Given the description of an element on the screen output the (x, y) to click on. 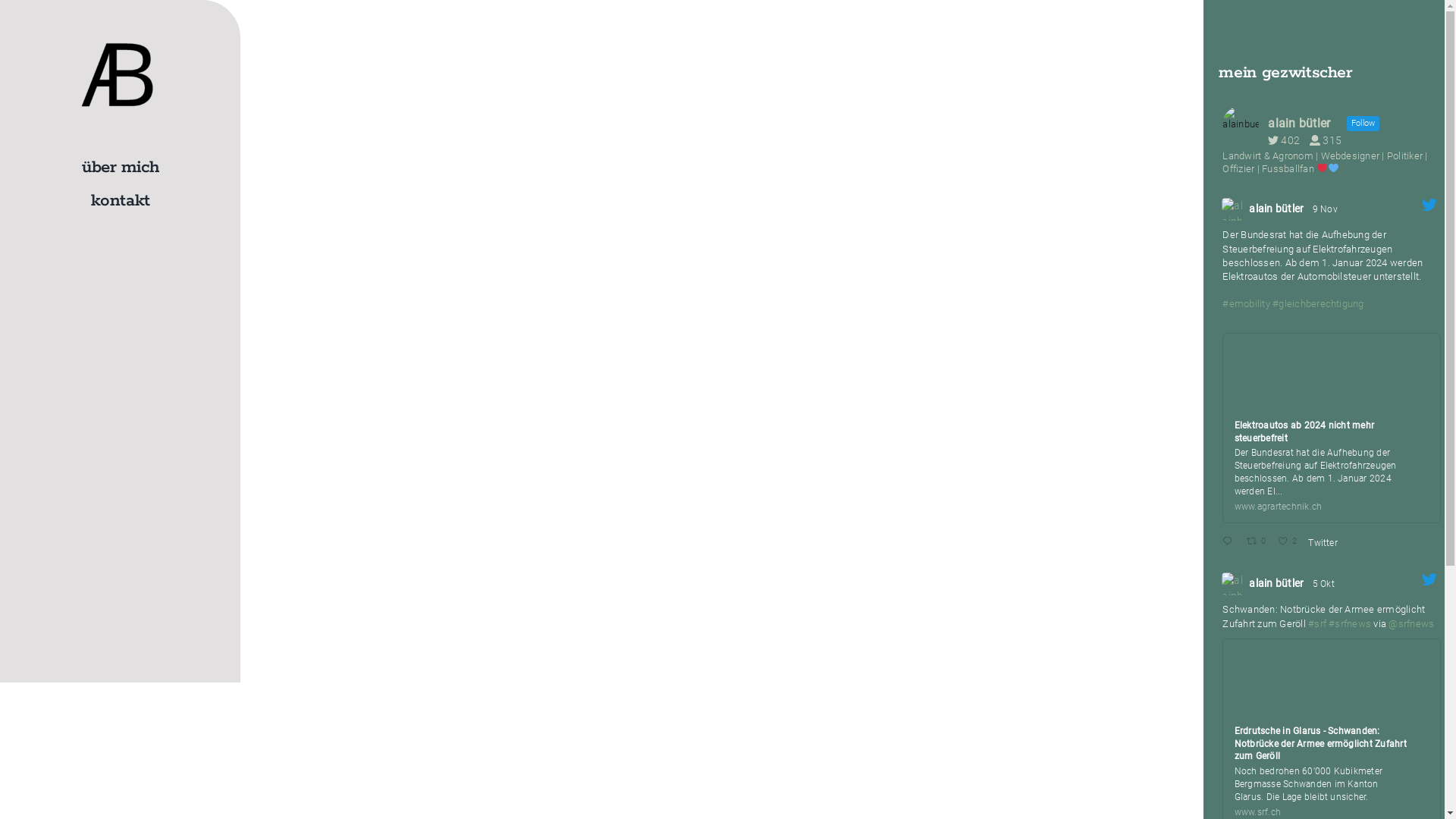
Like on Twitter 1722535983902564531
2 Element type: text (1289, 541)
; Element type: text (1232, 583)
Reply on Twitter 1722535983902564531 Element type: text (1230, 541)
kontakt Element type: text (120, 201)
#srf Element type: text (1317, 623)
5 Okt 1709915543178764314 Element type: text (1324, 583)
#gleichberechtigung Element type: text (1318, 303)
9 Nov 1722535983902564531 Element type: text (1325, 208)
; Element type: text (1232, 208)
cropped-icon-1-1.png Element type: hover (117, 75)
#emobility Element type: text (1245, 303)
Twitter 1722535983902564531 Element type: text (1325, 542)
Retweet on Twitter 1722535983902564531
0 Element type: text (1258, 541)
@srfnews Element type: text (1411, 623)
#srfnews Element type: text (1349, 623)
